Given the description of an element on the screen output the (x, y) to click on. 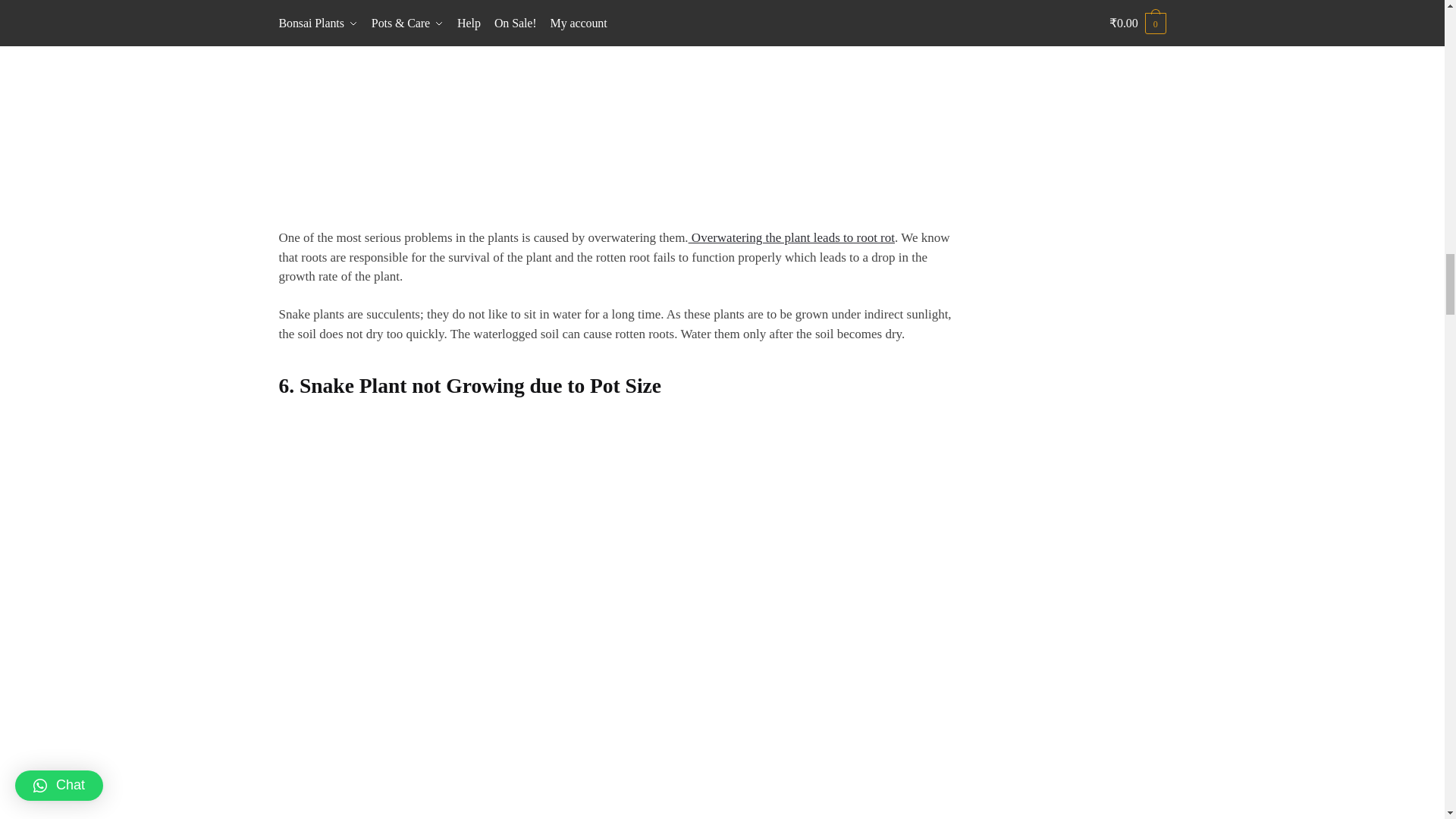
Overwatering the plant leads to root rot (791, 237)
